Given the description of an element on the screen output the (x, y) to click on. 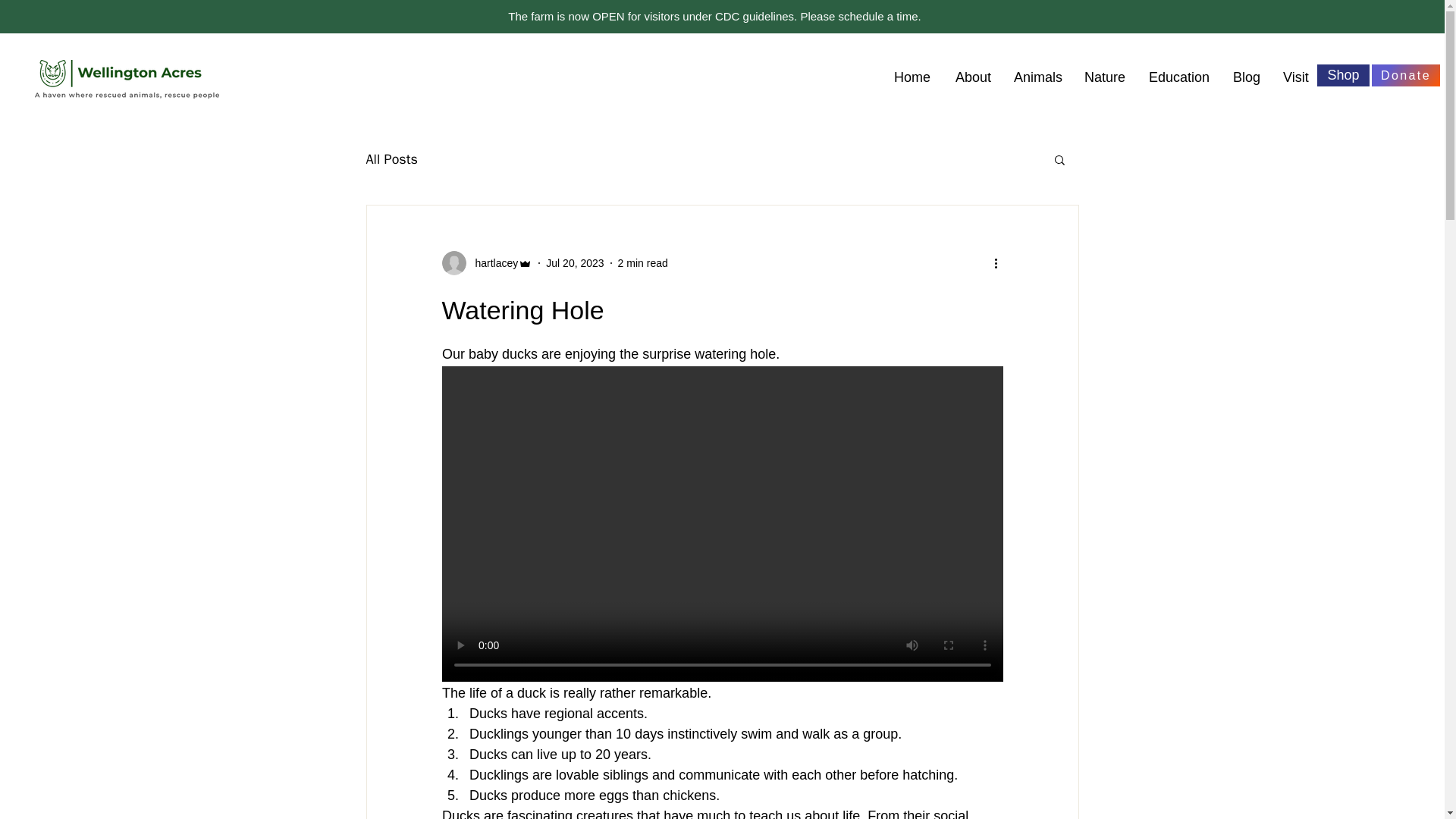
Blog (1246, 77)
Visit (1295, 77)
Donate (1405, 75)
hartlacey (491, 262)
Animals (1037, 77)
Shop (1343, 75)
Education (1179, 77)
Jul 20, 2023 (575, 262)
Nature (1104, 77)
2 min read (642, 262)
Home (912, 77)
All Posts (390, 158)
hartlacey (486, 262)
About (972, 77)
